Given the description of an element on the screen output the (x, y) to click on. 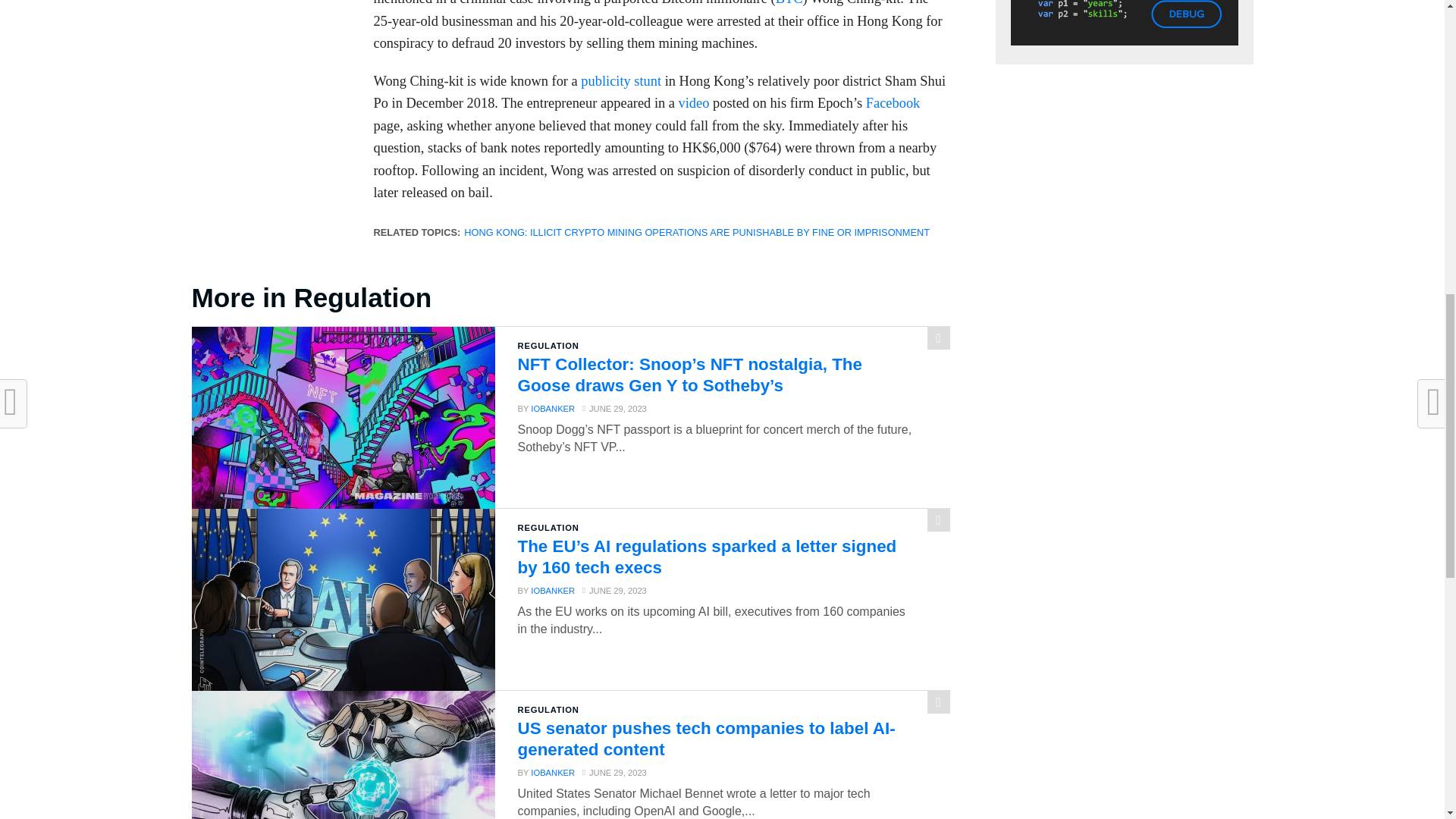
Posts by ioBanker (553, 408)
publicity stunt (620, 80)
Posts by ioBanker (553, 590)
Posts by ioBanker (553, 772)
BTC (789, 2)
